Given the description of an element on the screen output the (x, y) to click on. 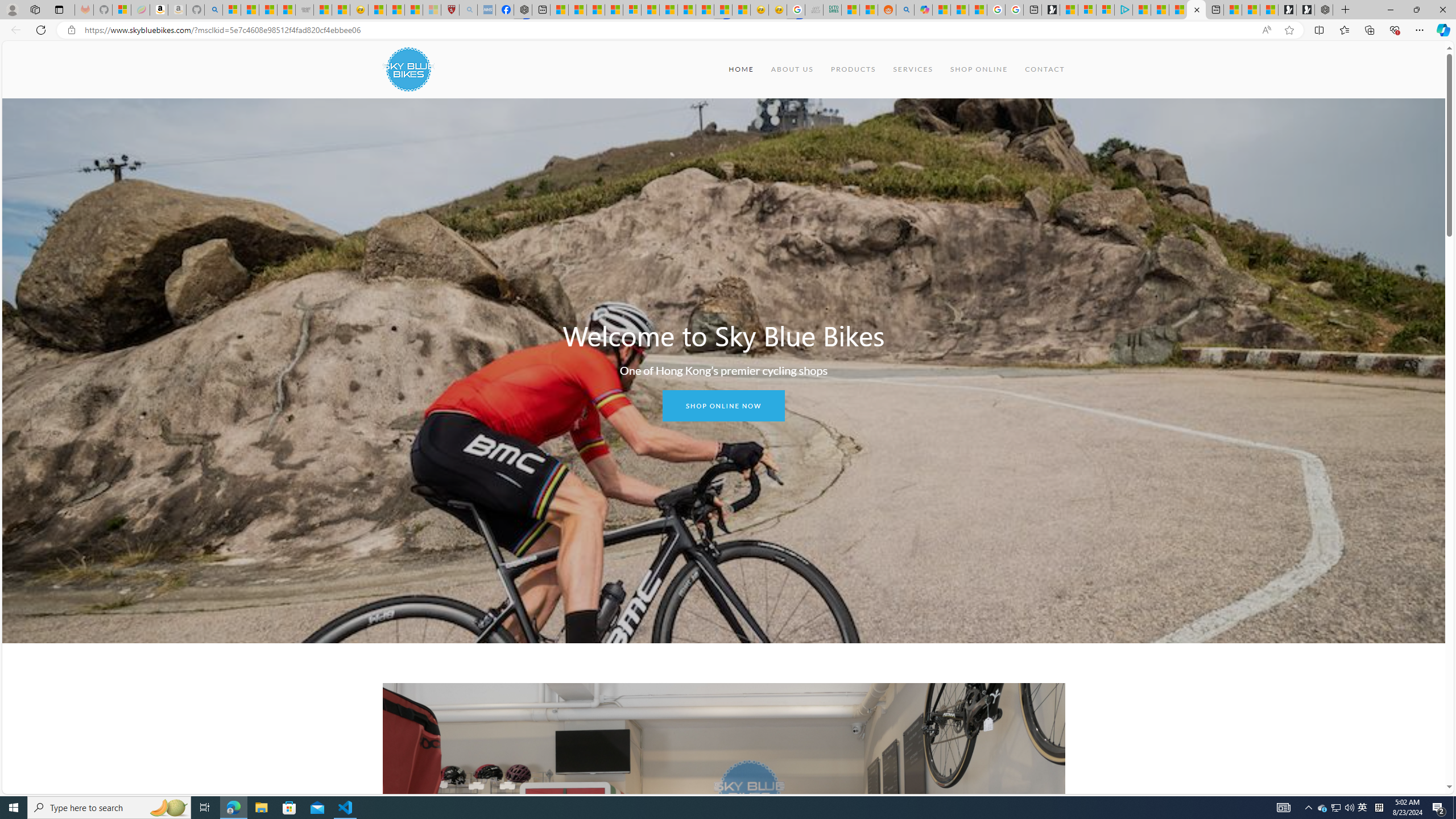
Navy Quest (814, 9)
Home | Sky Blue Bikes - Sky Blue Bikes (1195, 9)
HOME (741, 68)
Play Free Online Games | Games from Microsoft Start (1305, 9)
PRODUCTS (853, 68)
HOME (741, 68)
